Given the description of an element on the screen output the (x, y) to click on. 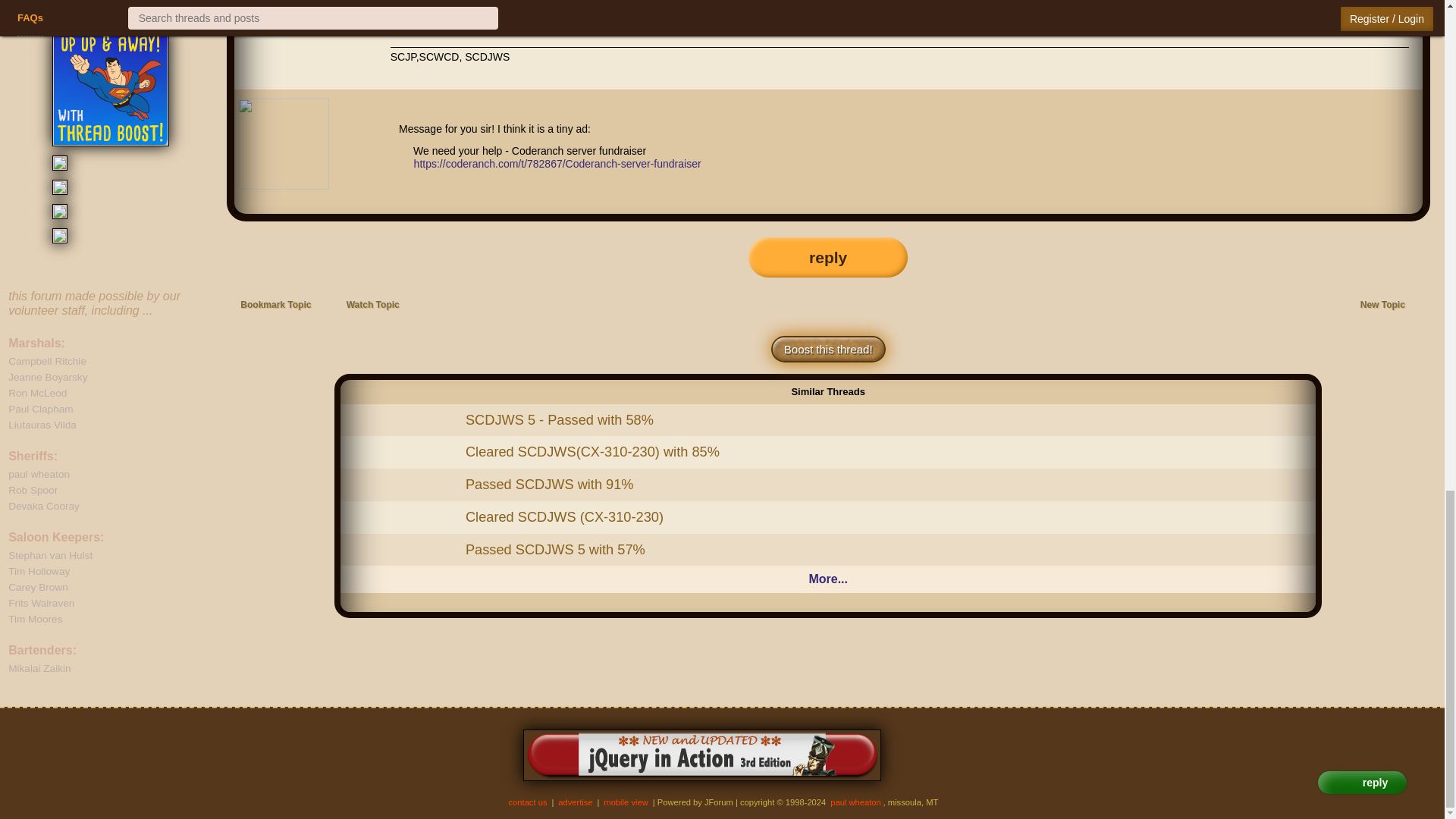
mobile view (626, 801)
